Given the description of an element on the screen output the (x, y) to click on. 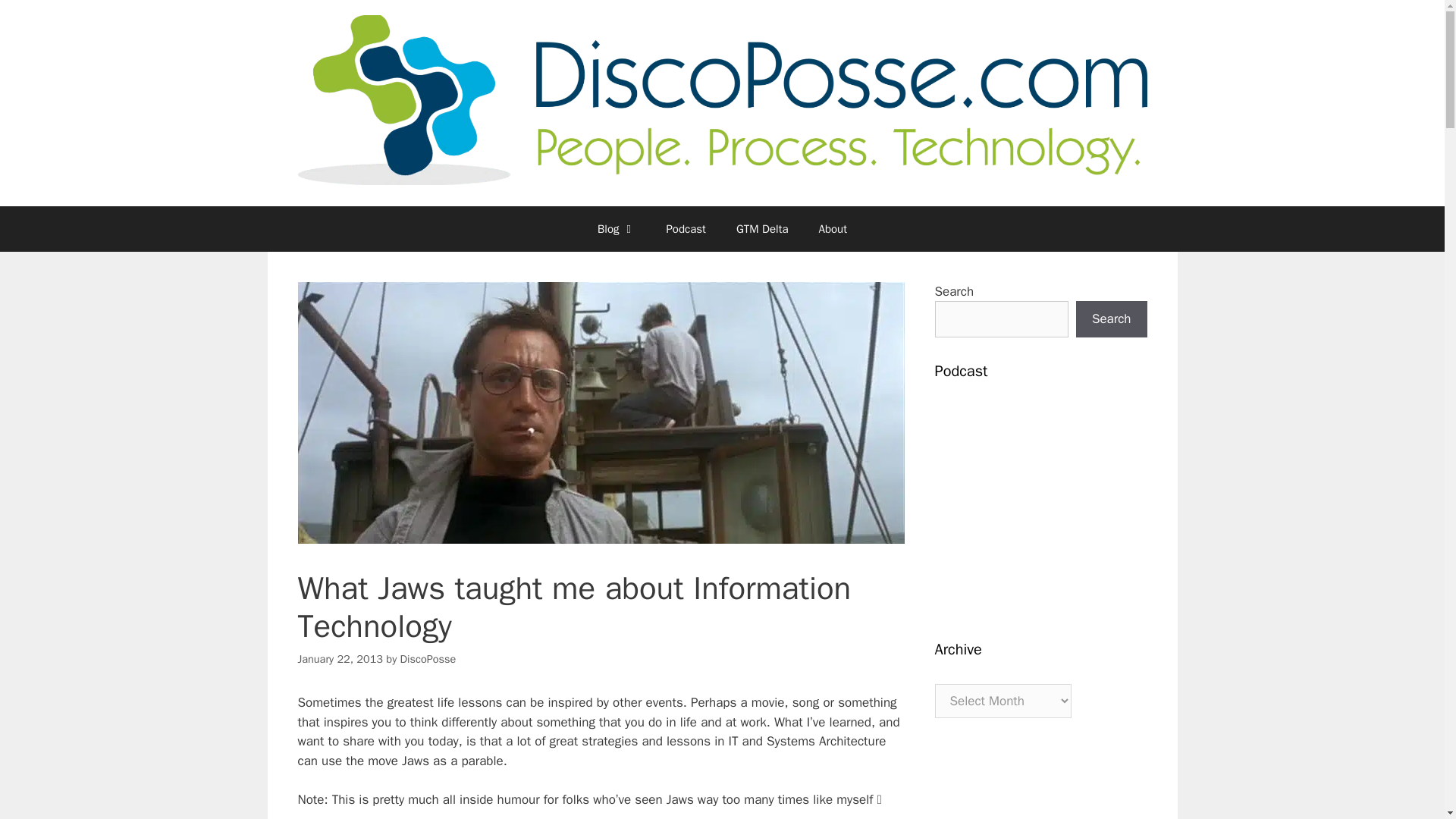
Podcast (685, 228)
About (832, 228)
GTM Delta (761, 228)
Search (1111, 319)
DiscoPosse (428, 658)
View all posts by DiscoPosse (428, 658)
Blog (616, 228)
